Given the description of an element on the screen output the (x, y) to click on. 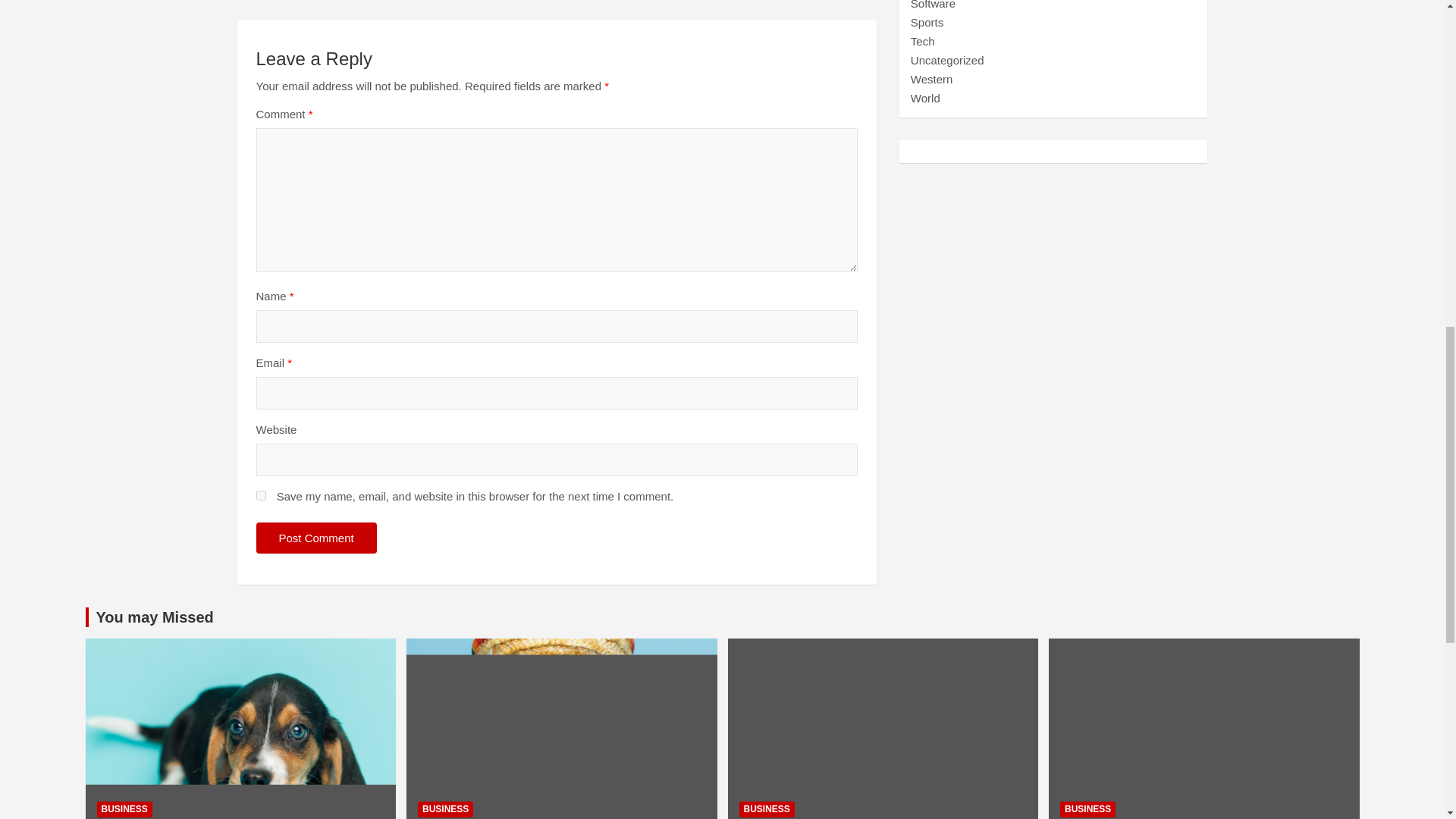
yes (261, 495)
Post Comment (316, 537)
Post Comment (316, 537)
